Given the description of an element on the screen output the (x, y) to click on. 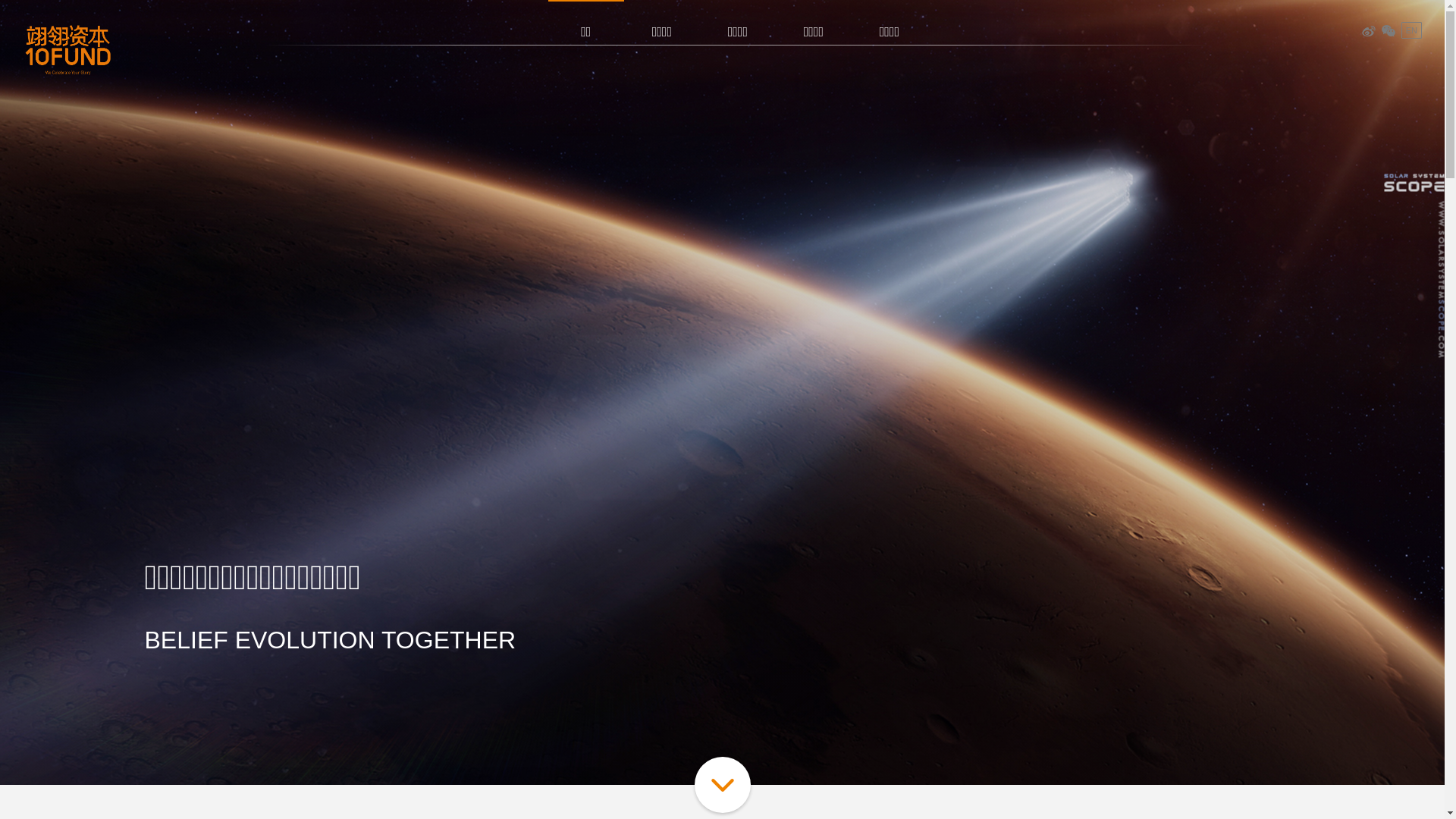
EN Element type: text (1411, 29)
